Given the description of an element on the screen output the (x, y) to click on. 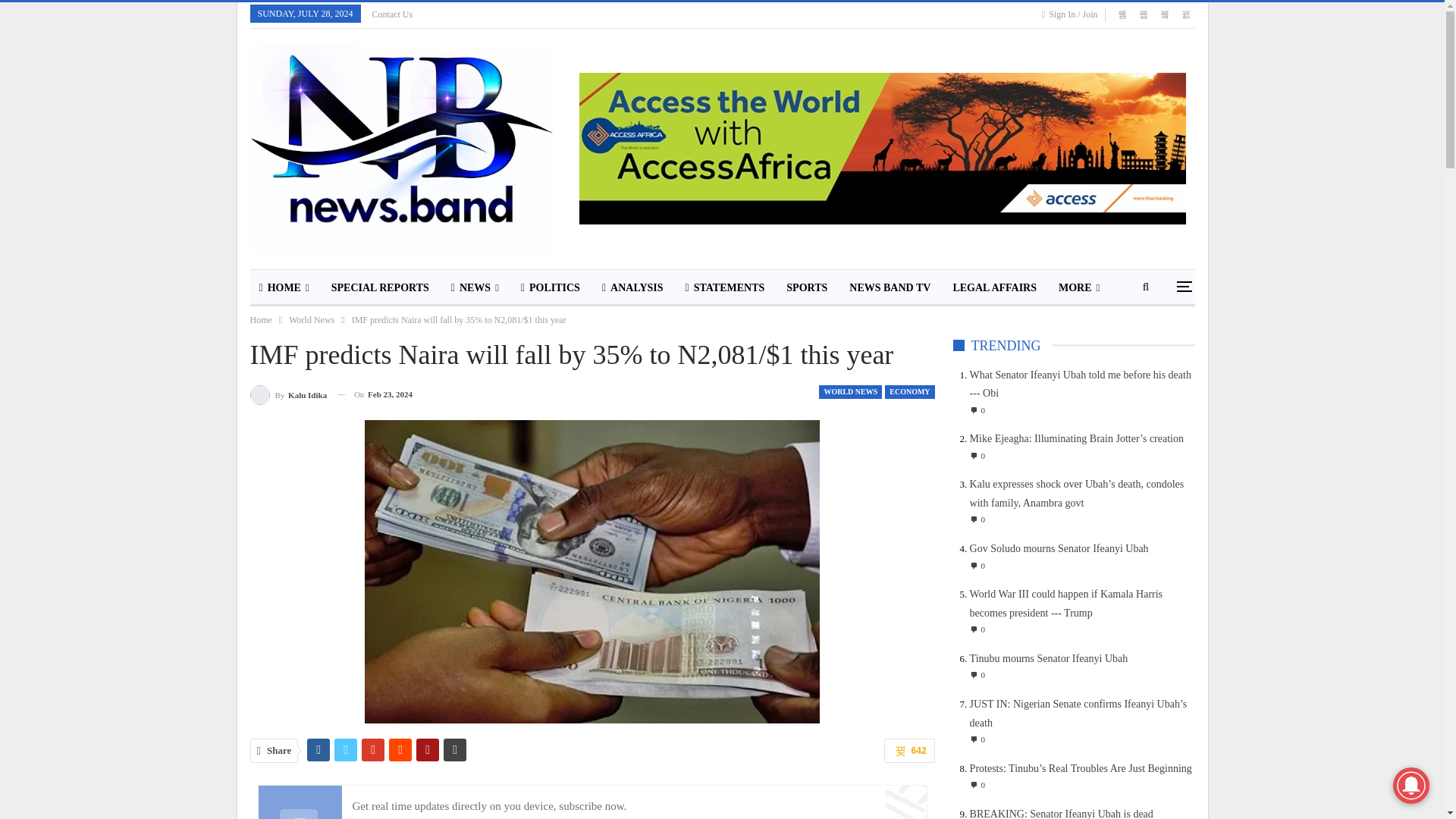
Browse Author Articles (288, 394)
LEGAL AFFAIRS (994, 288)
ANALYSIS (632, 288)
NEWS BAND TV (889, 288)
Contact Us (392, 14)
SPECIAL REPORTS (379, 288)
SPORTS (806, 288)
POLITICS (550, 288)
STATEMENTS (725, 288)
HOME (284, 288)
NEWS (475, 288)
